Given the description of an element on the screen output the (x, y) to click on. 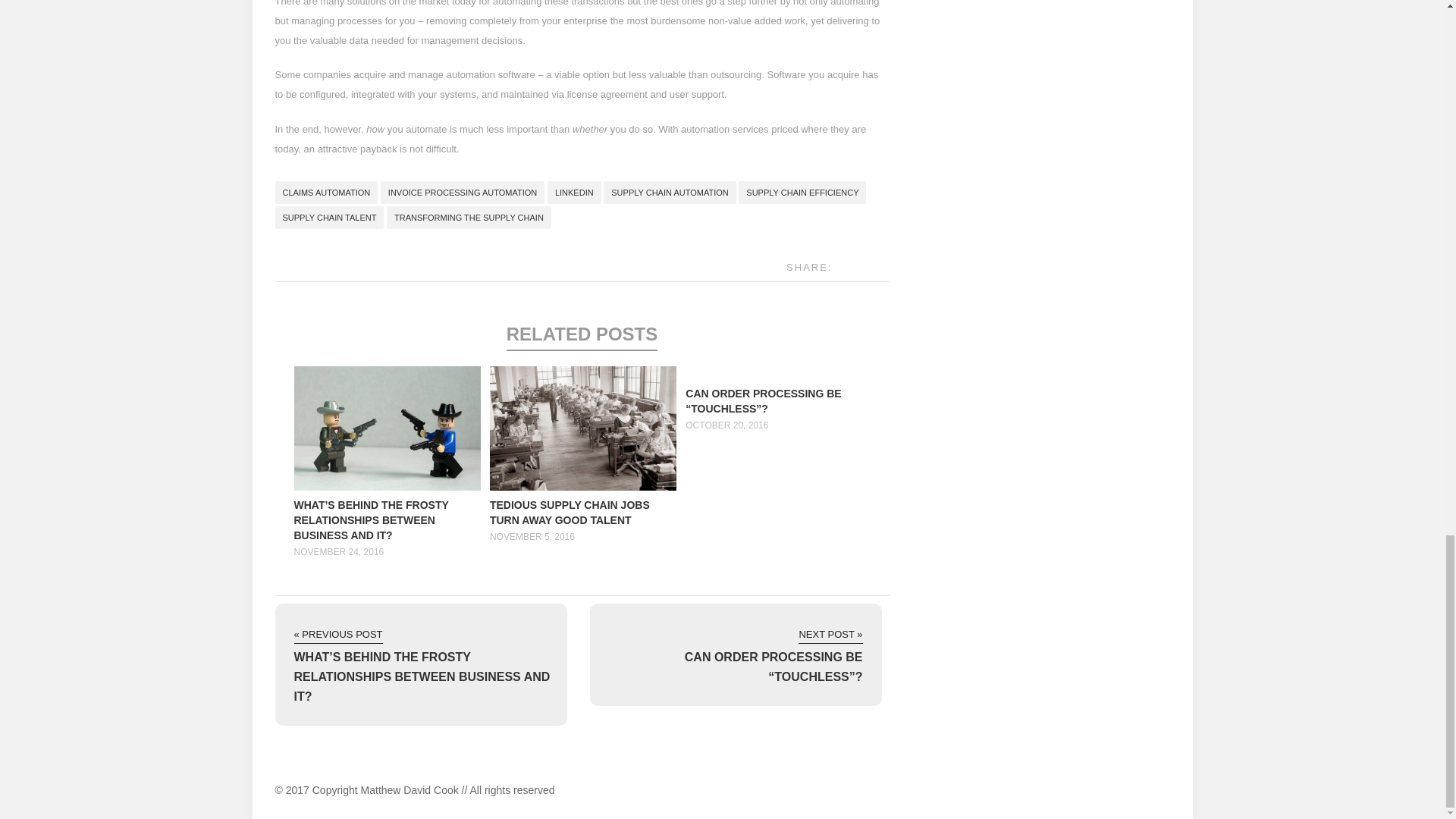
TRANSFORMING THE SUPPLY CHAIN (469, 217)
SUPPLY CHAIN EFFICIENCY (802, 191)
LINKEDIN (574, 191)
SUPPLY CHAIN AUTOMATION (669, 191)
NOVEMBER 5, 2016 (532, 536)
INVOICE PROCESSING AUTOMATION (462, 191)
OCTOBER 20, 2016 (726, 425)
NOVEMBER 24, 2016 (339, 552)
TEDIOUS SUPPLY CHAIN JOBS TURN AWAY GOOD TALENT (569, 512)
SUPPLY CHAIN TALENT (329, 217)
CLAIMS AUTOMATION (326, 191)
